Given the description of an element on the screen output the (x, y) to click on. 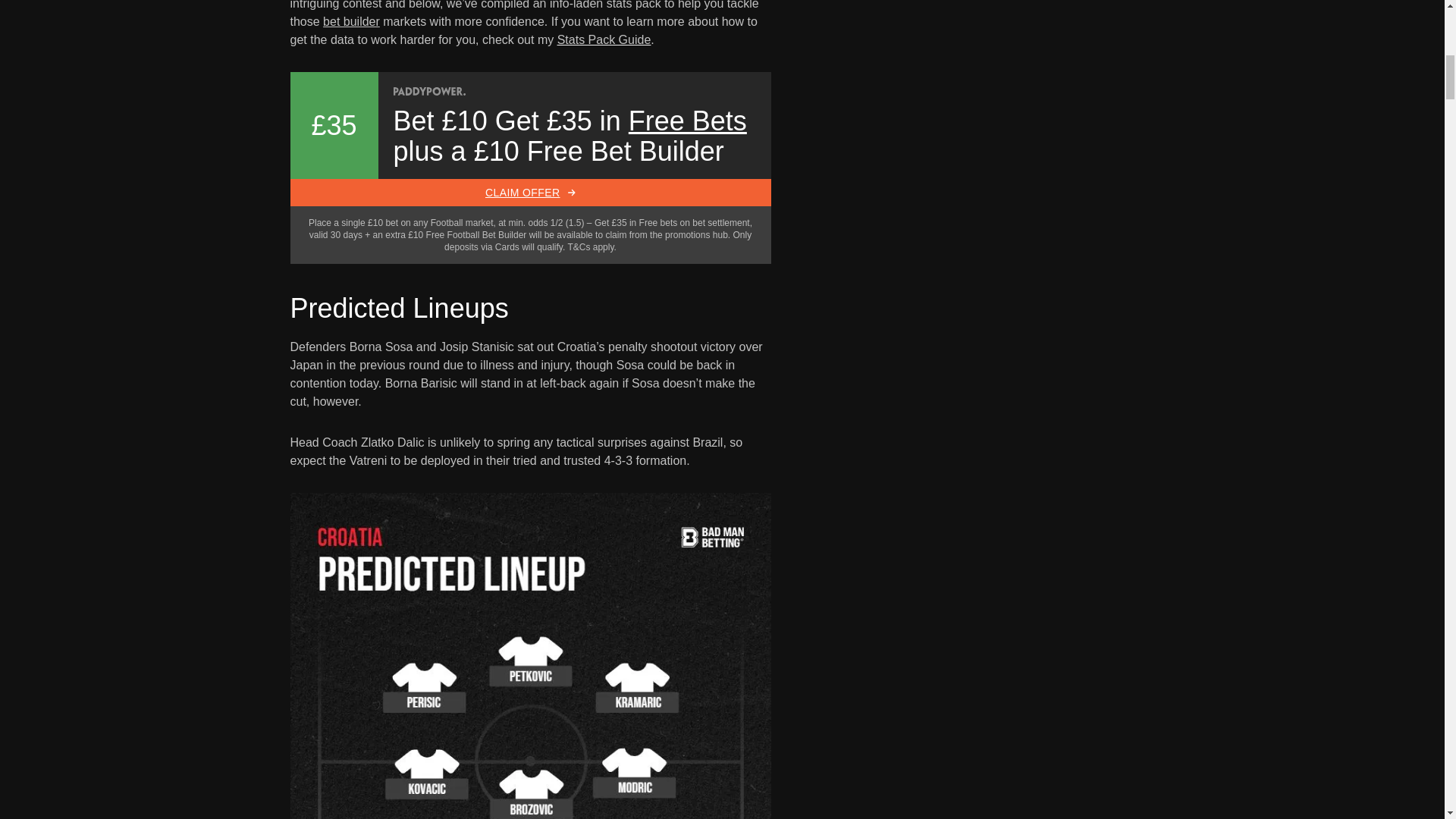
CLAIM OFFER (529, 192)
Stats Pack Guide (603, 39)
Free Bets (687, 120)
bet builder (351, 21)
